Given the description of an element on the screen output the (x, y) to click on. 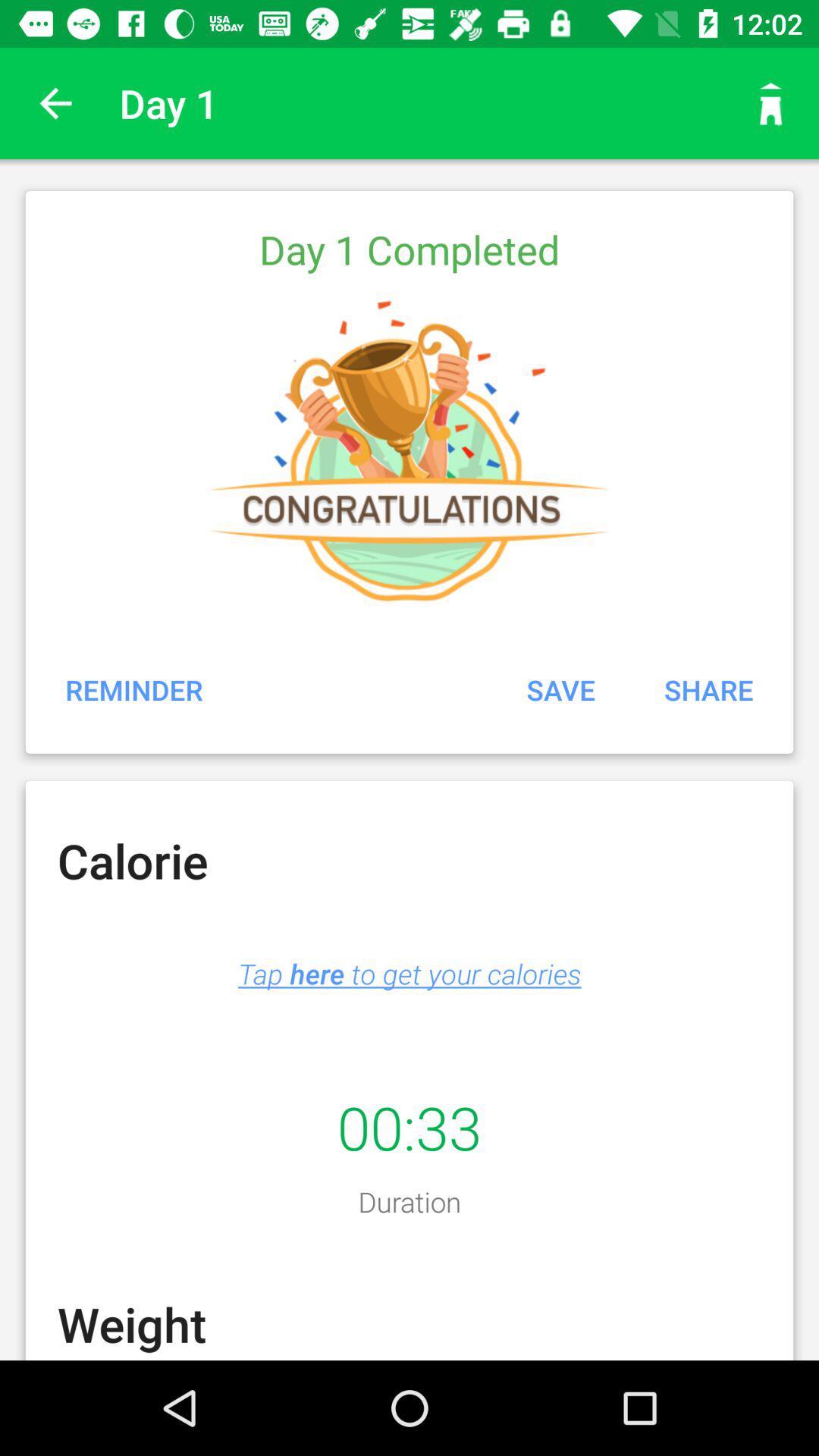
select the item at the top right corner (771, 103)
